Given the description of an element on the screen output the (x, y) to click on. 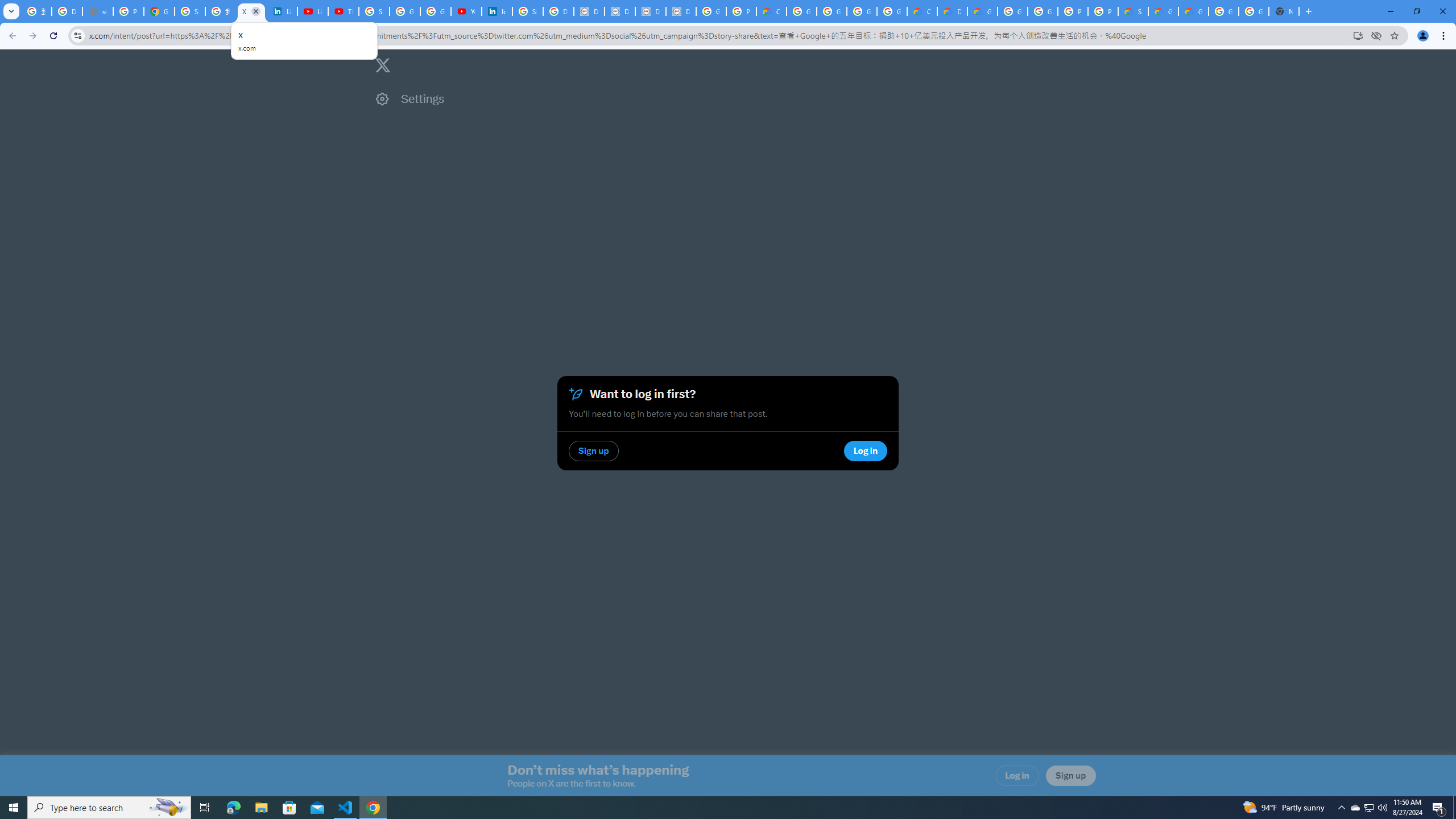
Data Privacy Framework (681, 11)
Support Hub | Google Cloud (1132, 11)
Google Cloud Platform (1042, 11)
Sign in - Google Accounts (189, 11)
Data Privacy Framework (619, 11)
Customer Care | Google Cloud (922, 11)
Log in (1017, 775)
LinkedIn Privacy Policy (282, 11)
